Given the description of an element on the screen output the (x, y) to click on. 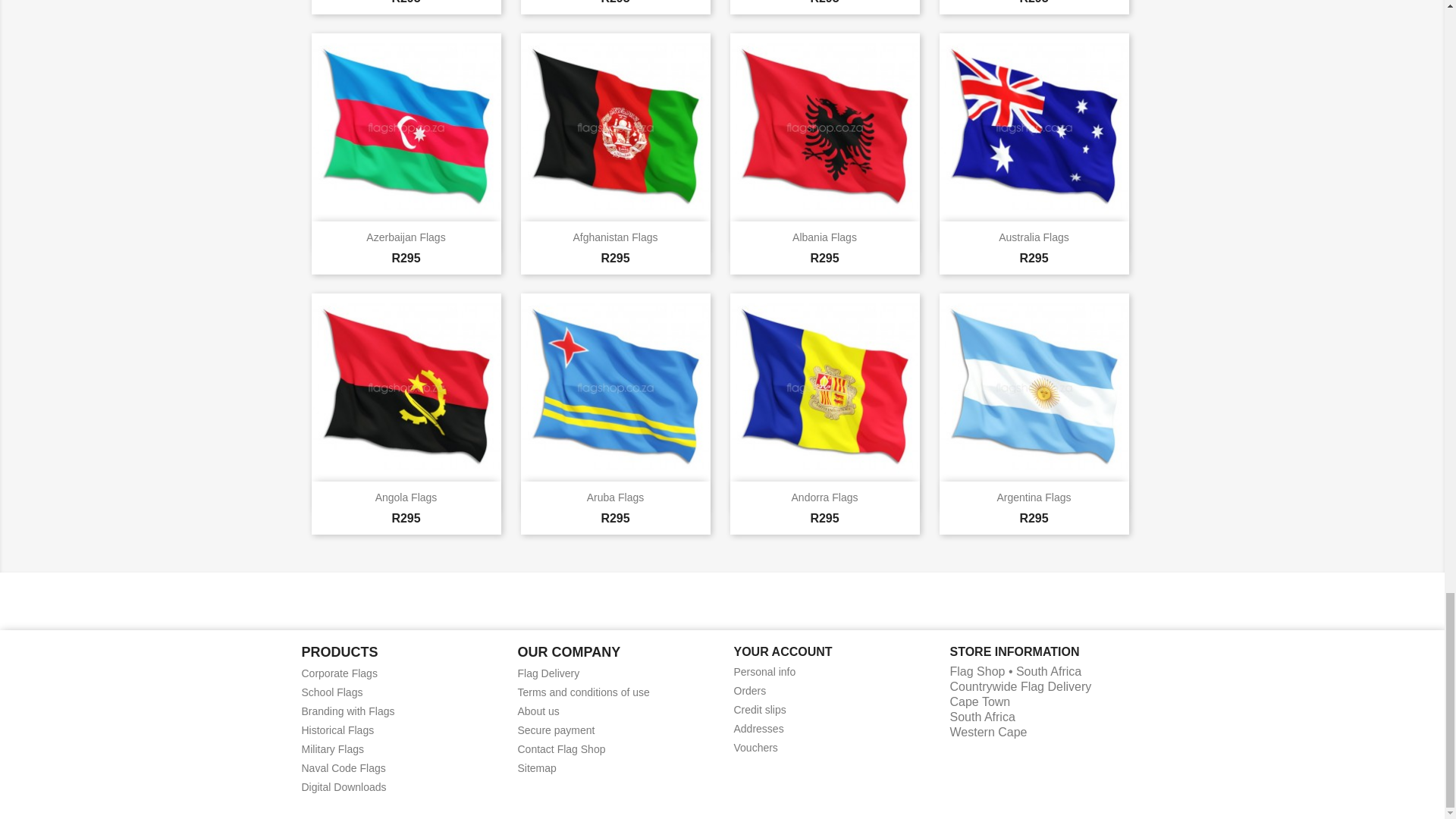
Flag Shop terms and conditions of use (582, 692)
